Given the description of an element on the screen output the (x, y) to click on. 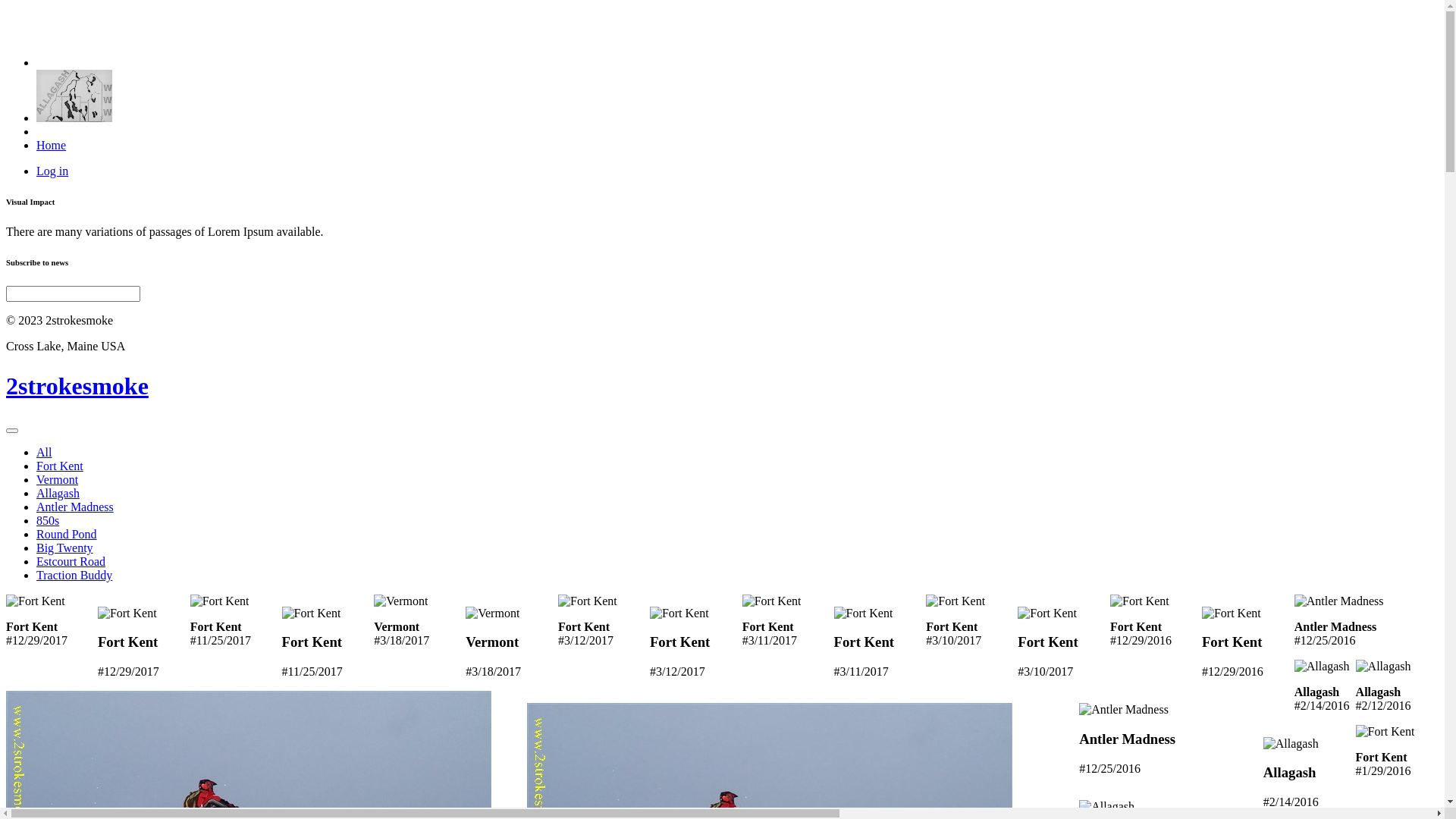
Log in Element type: text (52, 170)
Big Twenty Element type: text (64, 547)
Traction Buddy Element type: text (74, 574)
Round Pond Element type: text (66, 533)
Fort Kent Element type: text (59, 465)
Estcourt Road Element type: text (70, 561)
Vermont Element type: text (57, 479)
Toggle navigation Element type: text (12, 430)
Allagash Element type: text (57, 492)
Antler Madness Element type: text (74, 506)
2strokesmoke Element type: text (77, 385)
Home Element type: text (50, 144)
All Element type: text (43, 451)
850s Element type: text (47, 520)
